Given the description of an element on the screen output the (x, y) to click on. 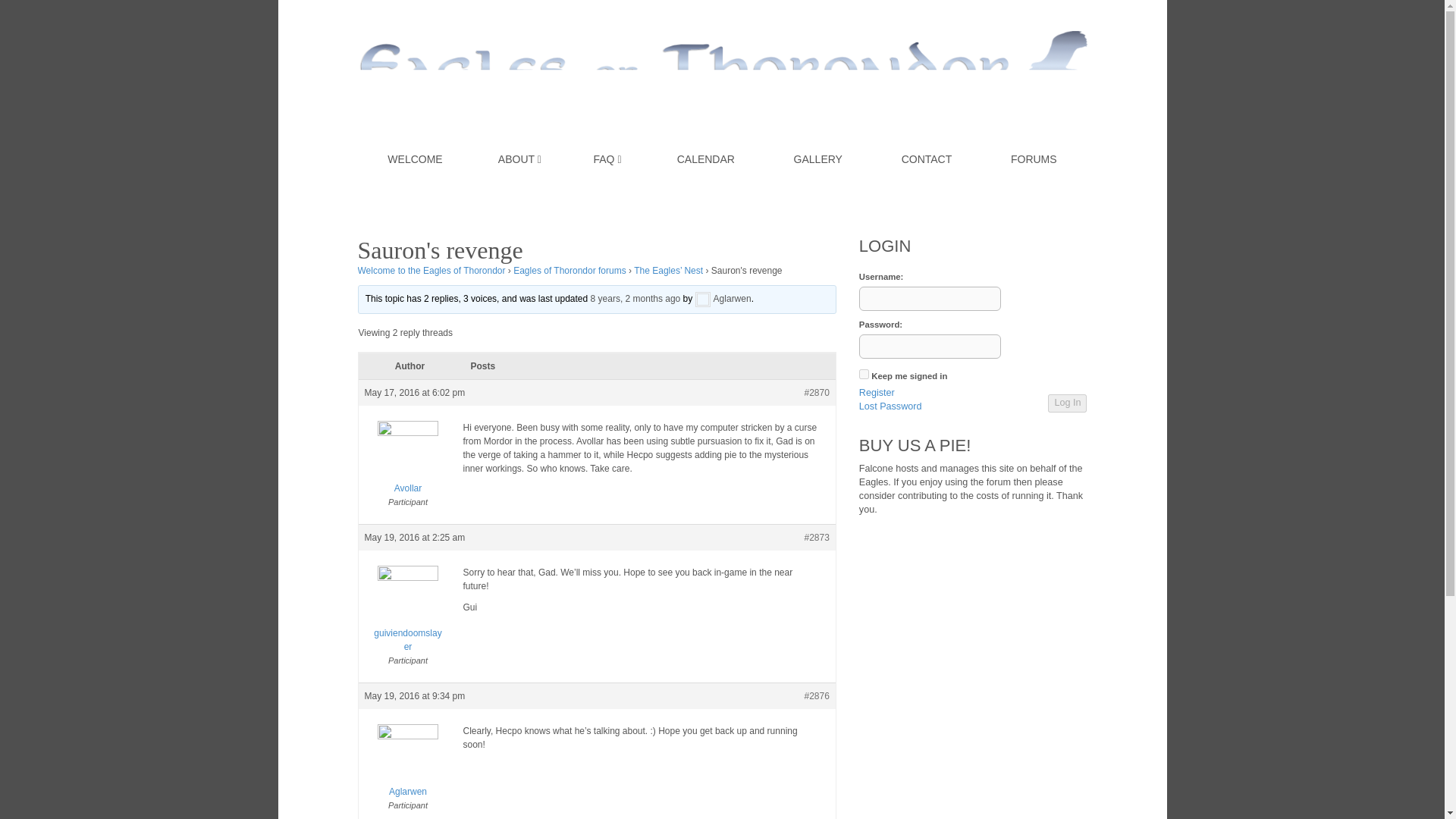
forever (864, 374)
Aglarwen (723, 298)
View Avollar's profile (407, 467)
Lost Password (890, 407)
Log In (1067, 402)
ABOUT (519, 159)
Eagles of Thorondor forums (569, 270)
FORUMS (1033, 159)
GALLERY (818, 159)
Avollar (407, 467)
CONTACT (926, 159)
Eagles of Thorondor (722, 64)
guiviendoomslayer (407, 619)
CALENDAR (705, 159)
